Given the description of an element on the screen output the (x, y) to click on. 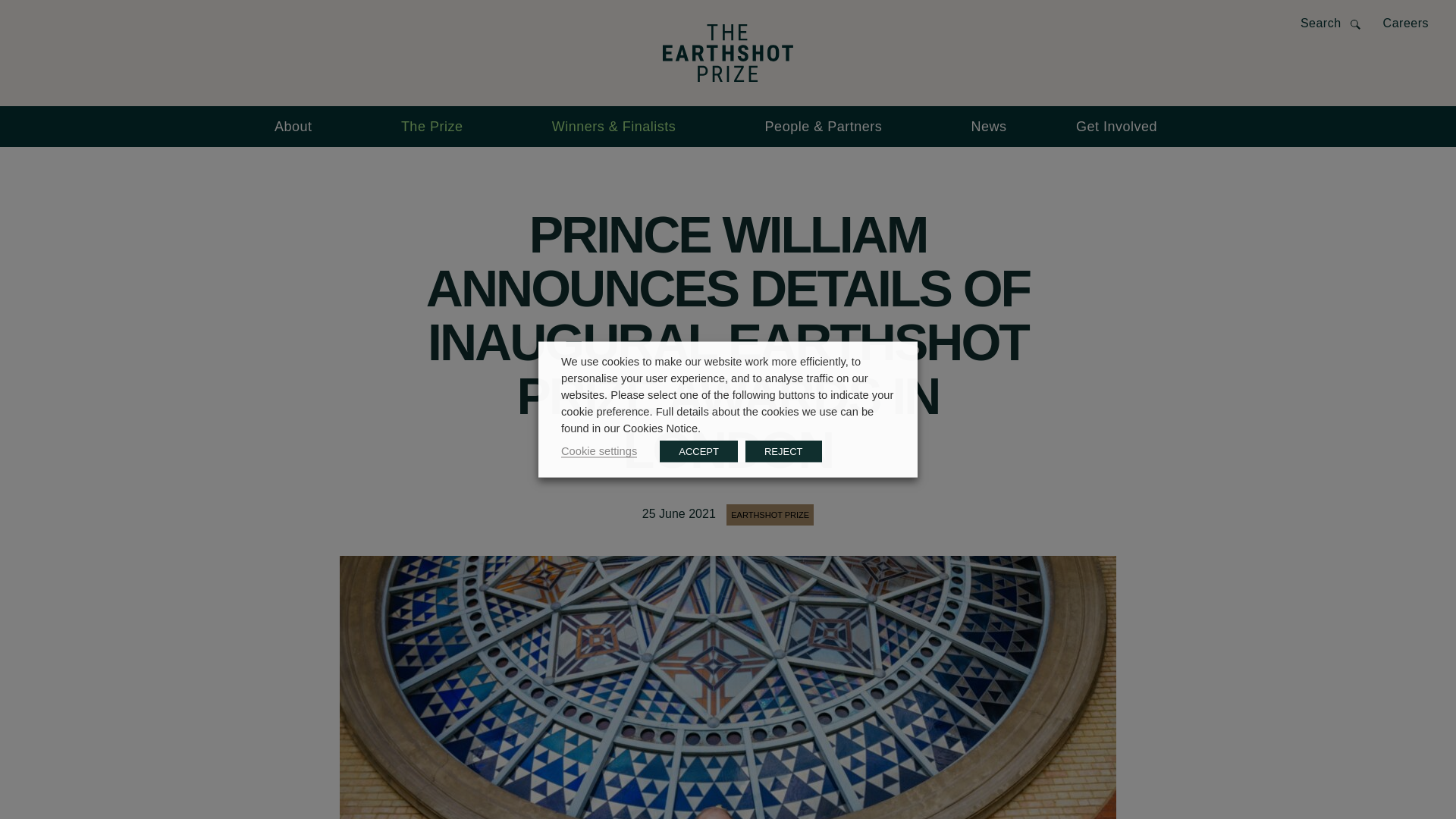
About (302, 126)
The Prize (441, 126)
